Given the description of an element on the screen output the (x, y) to click on. 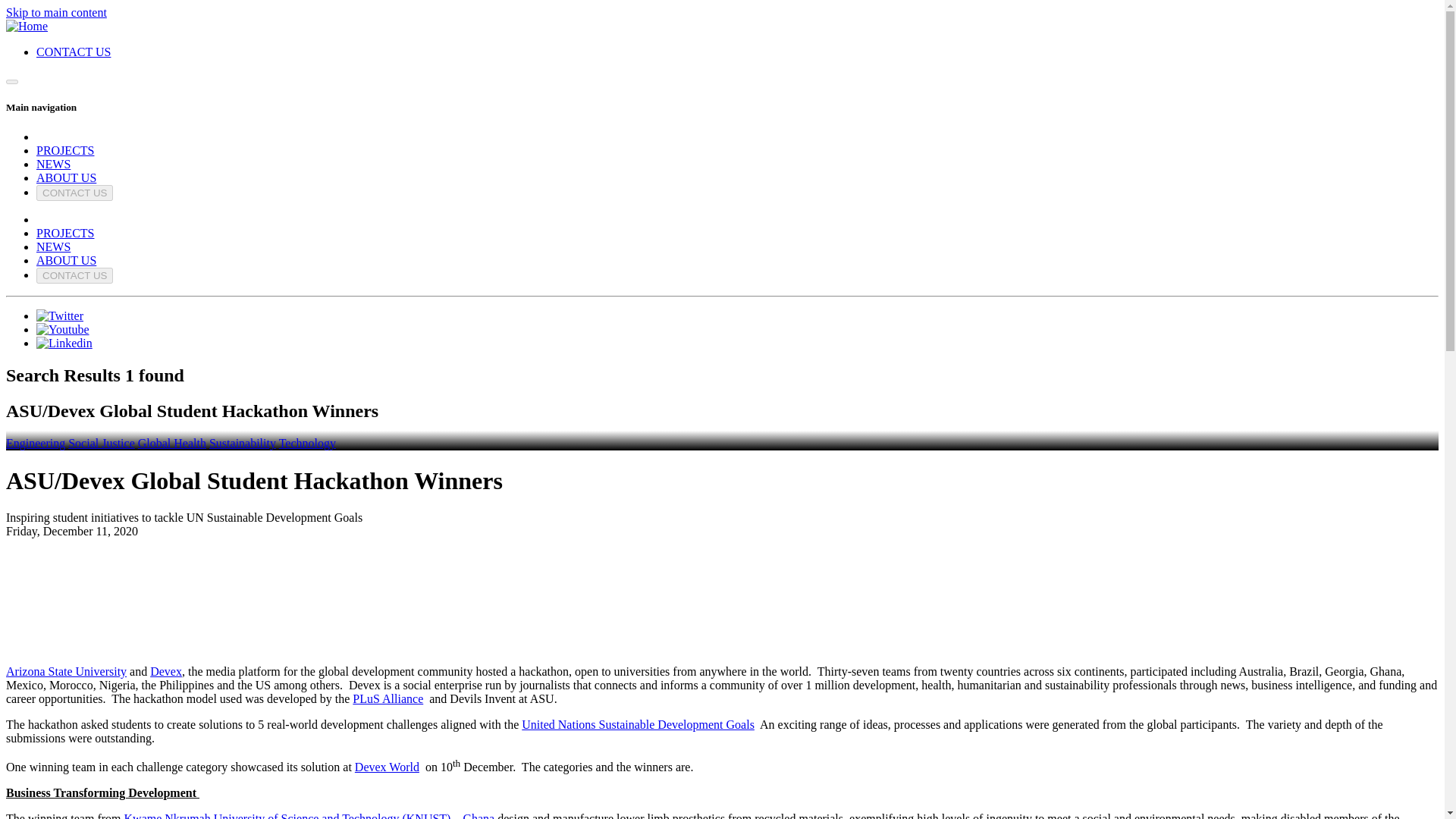
CONTACT US (73, 51)
Global Health (172, 442)
NEWS (52, 246)
PLuS Alliance (387, 698)
CONTACT US (74, 275)
Link opens in new window (64, 342)
Devex World (387, 766)
Link opens in new window (62, 328)
PROJECTS (65, 150)
Devex (165, 671)
